Given the description of an element on the screen output the (x, y) to click on. 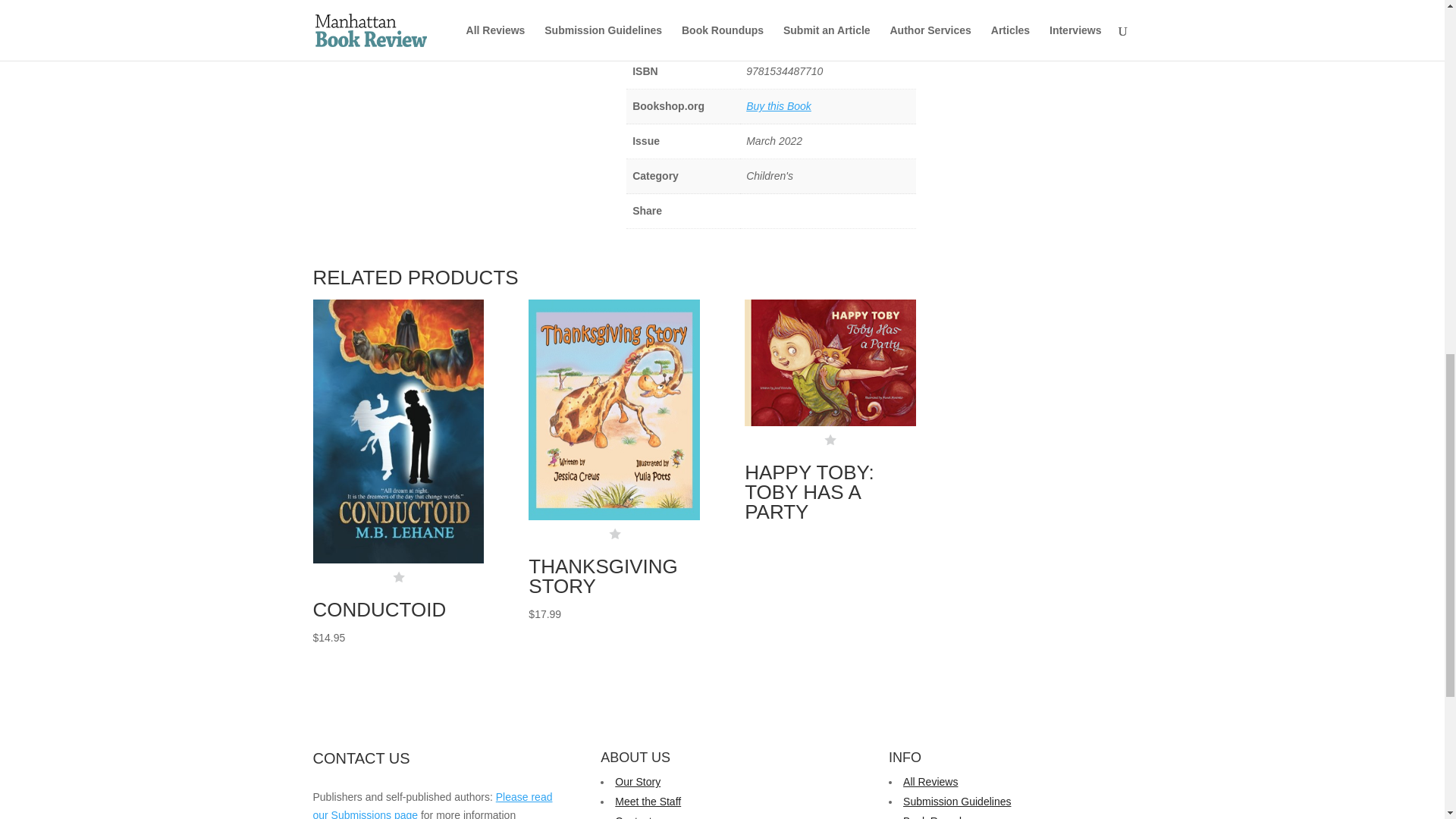
Buy this Book (777, 105)
Contact (632, 816)
Please read our Submissions page (432, 805)
Meet the Staff (647, 801)
Our Story (637, 781)
